Given the description of an element on the screen output the (x, y) to click on. 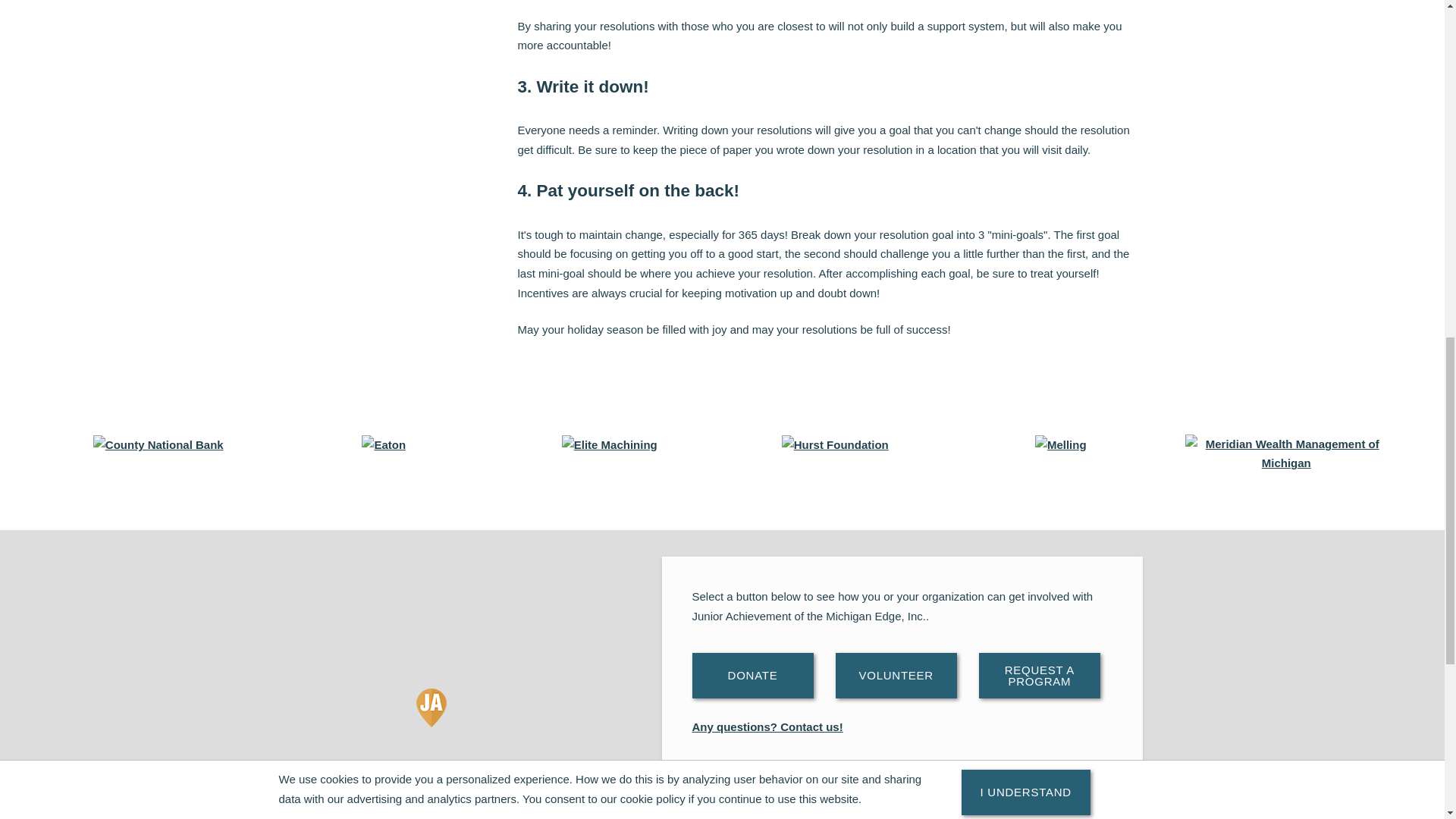
DONATE (751, 675)
VOLUNTEER (895, 675)
REQUEST A PROGRAM (1039, 675)
